Given the description of an element on the screen output the (x, y) to click on. 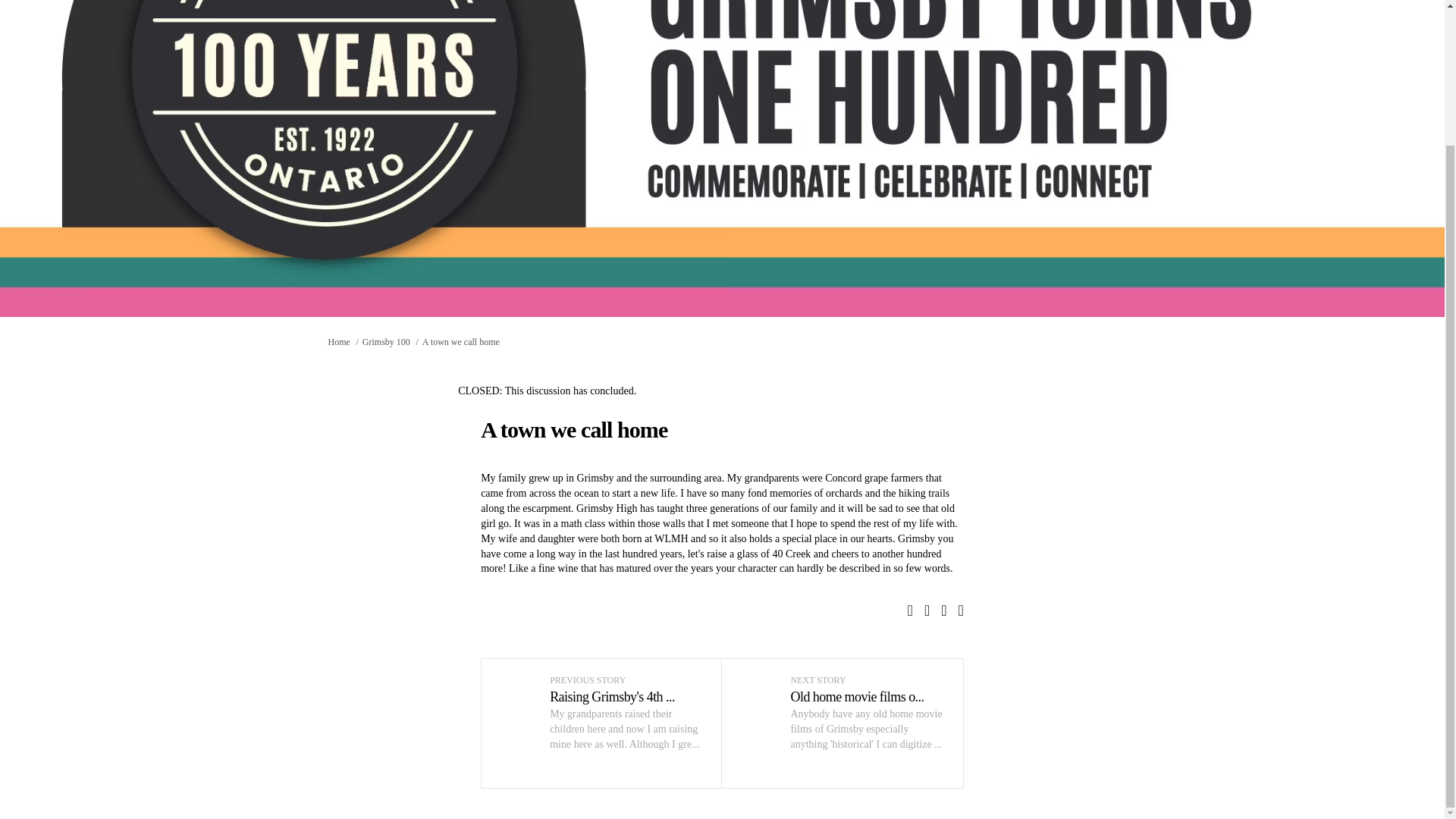
Home (338, 341)
Grimsby 100 (386, 341)
